Given the description of an element on the screen output the (x, y) to click on. 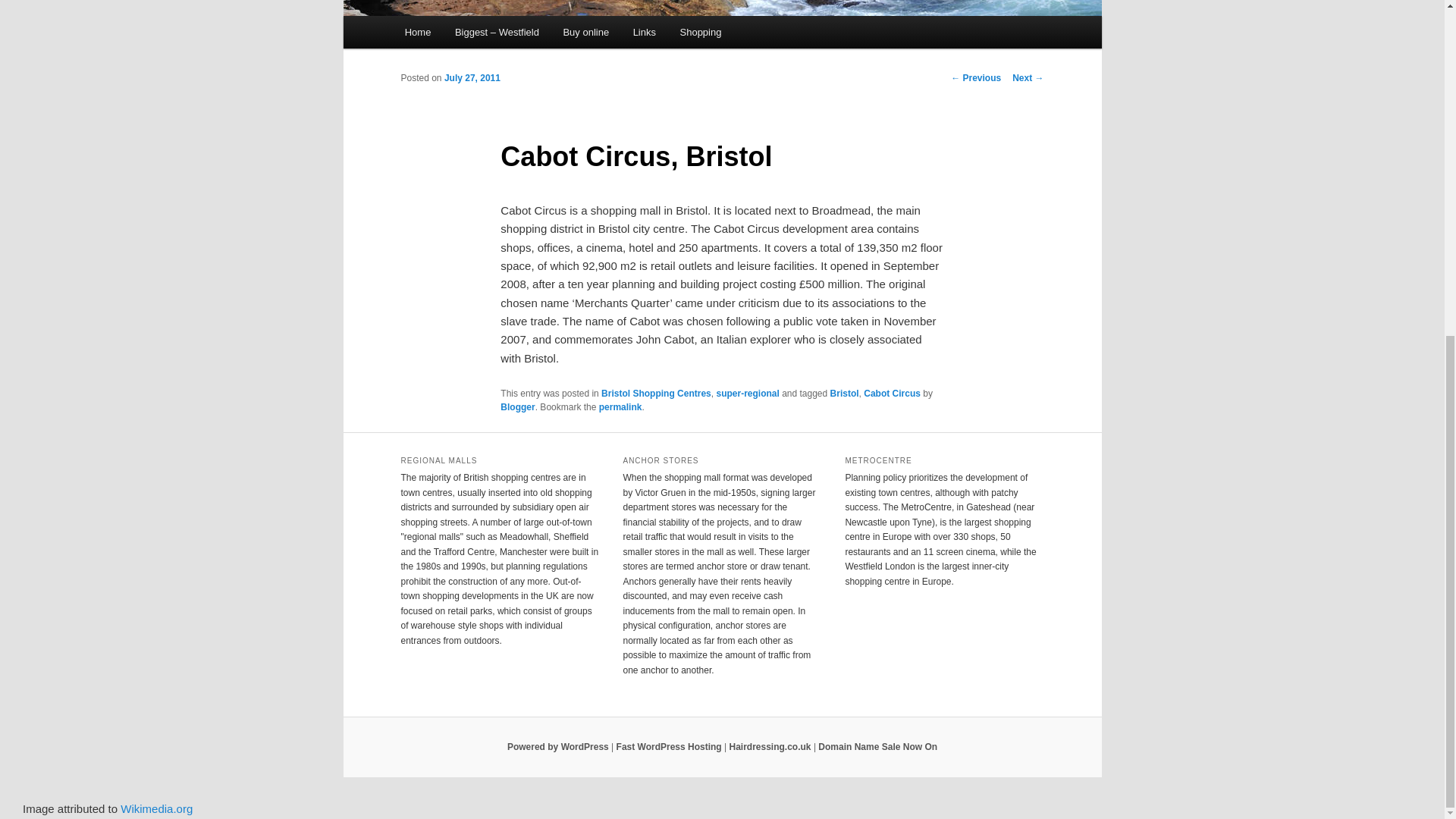
Domain Name Sale Now On (877, 747)
Hairdressing.co.uk (769, 747)
Bristol (844, 393)
Bristol Shopping Centres (656, 393)
Wikimedia.org (156, 808)
permalink (620, 407)
July 27, 2011 (472, 77)
Permalink to Cabot Circus, Bristol (620, 407)
Cabot Circus (891, 393)
Buy online (586, 31)
Blogger (517, 407)
Semantic Personal Publishing Platform (557, 747)
Home (417, 31)
Links (644, 31)
